Given the description of an element on the screen output the (x, y) to click on. 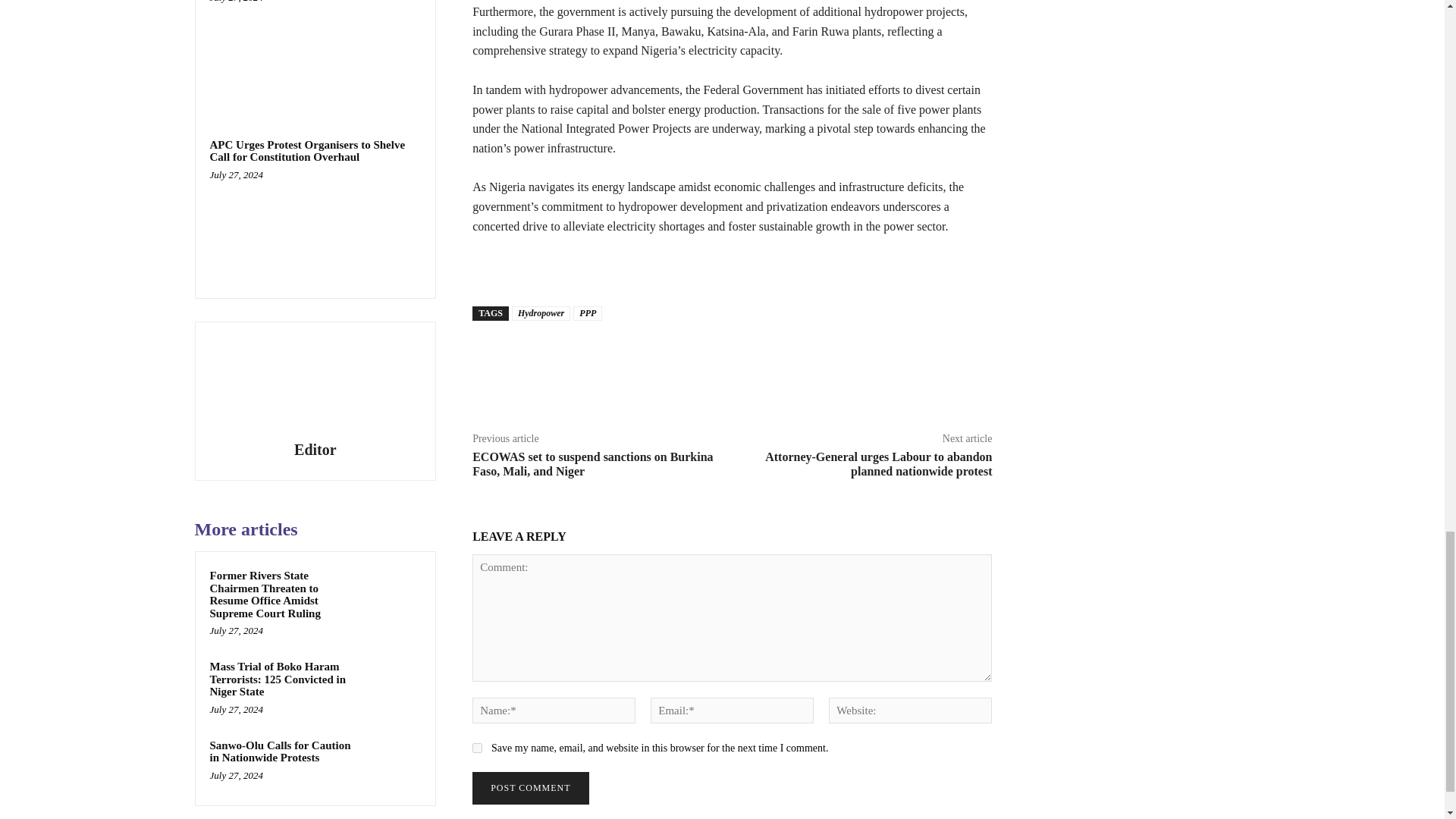
Post Comment (529, 788)
yes (476, 747)
